Given the description of an element on the screen output the (x, y) to click on. 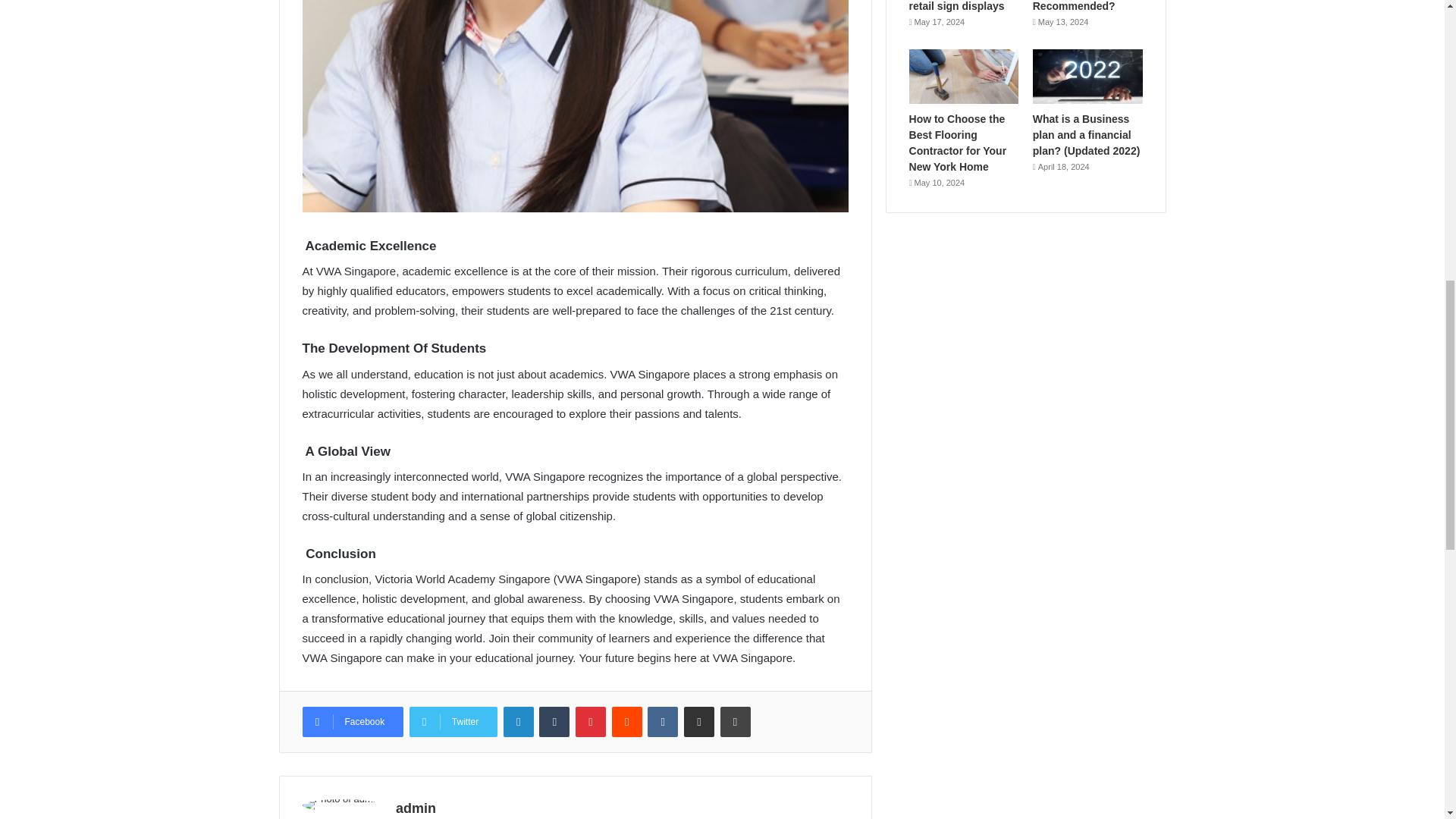
Print (735, 721)
admin (415, 807)
Pinterest (590, 721)
Twitter (453, 721)
VKontakte (662, 721)
Twitter (453, 721)
Share via Email (699, 721)
Tumblr (553, 721)
Tumblr (553, 721)
Pinterest (590, 721)
LinkedIn (518, 721)
Reddit (626, 721)
VKontakte (662, 721)
LinkedIn (518, 721)
Facebook (352, 721)
